Given the description of an element on the screen output the (x, y) to click on. 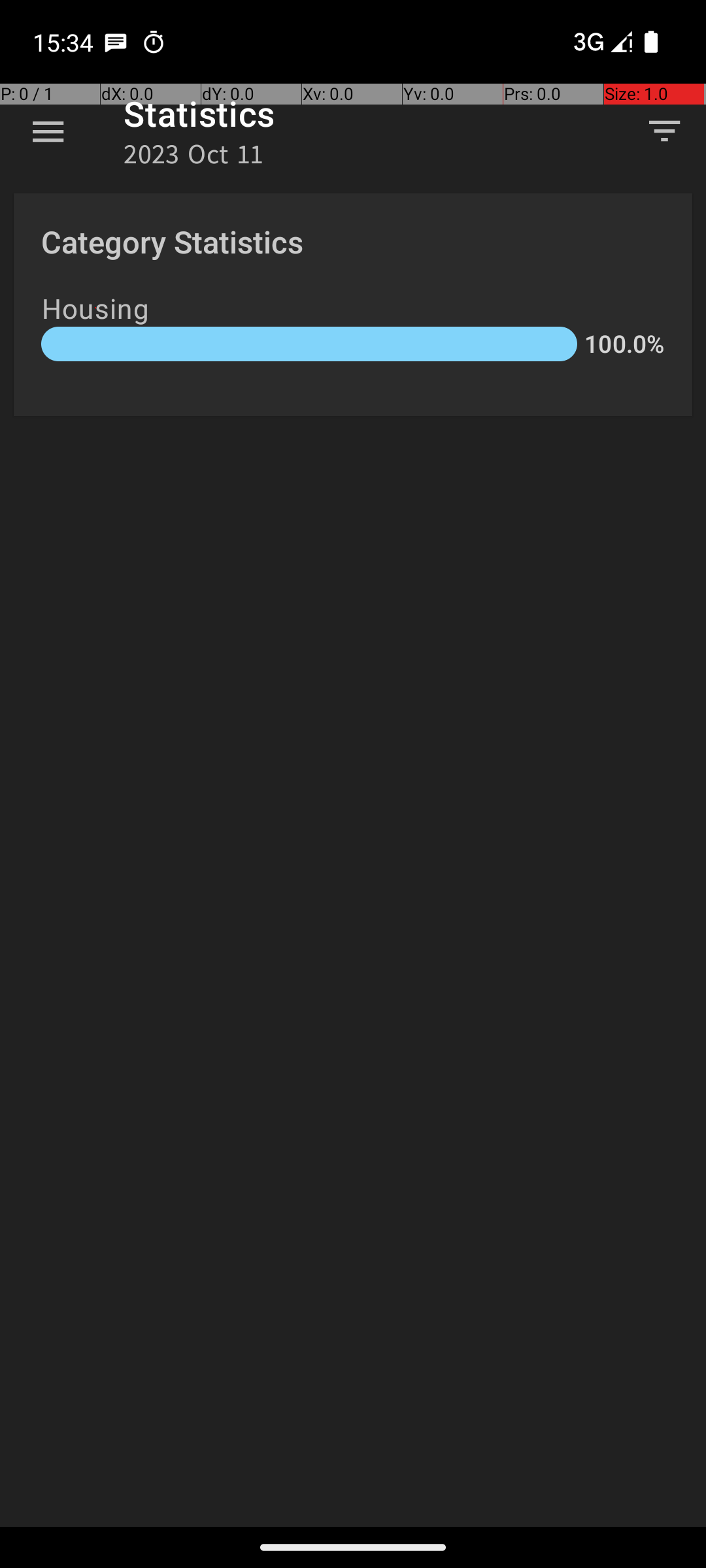
Category Statistics Element type: android.widget.TextView (172, 240)
100.0% Element type: android.widget.TextView (624, 343)
